Given the description of an element on the screen output the (x, y) to click on. 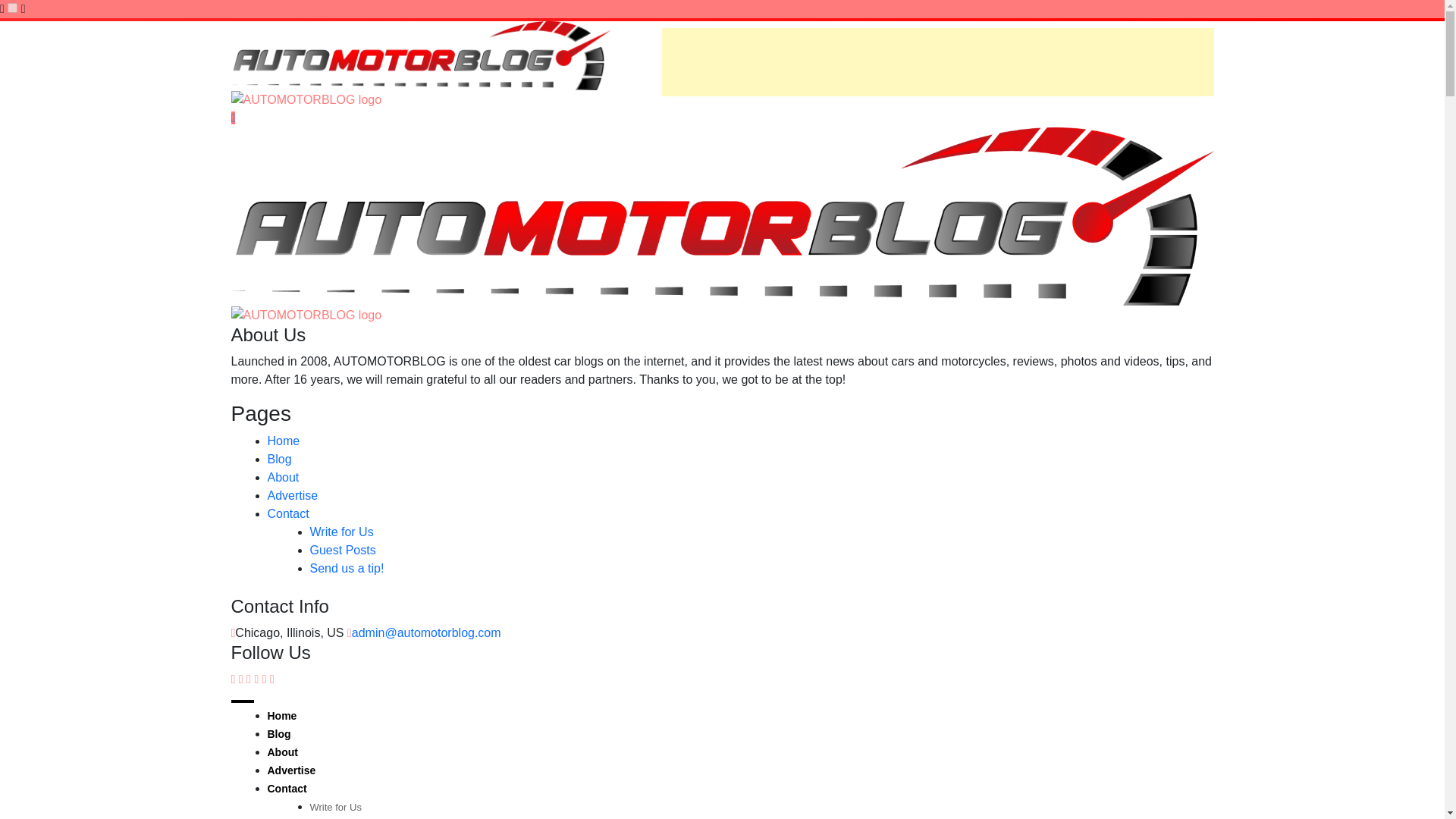
Blog (277, 734)
Write for Us (340, 531)
Contact (285, 788)
Advertise (290, 770)
on (12, 8)
Blog (278, 459)
Guest Posts (341, 549)
Write for Us (334, 807)
Contact (287, 513)
Home (281, 715)
